Given the description of an element on the screen output the (x, y) to click on. 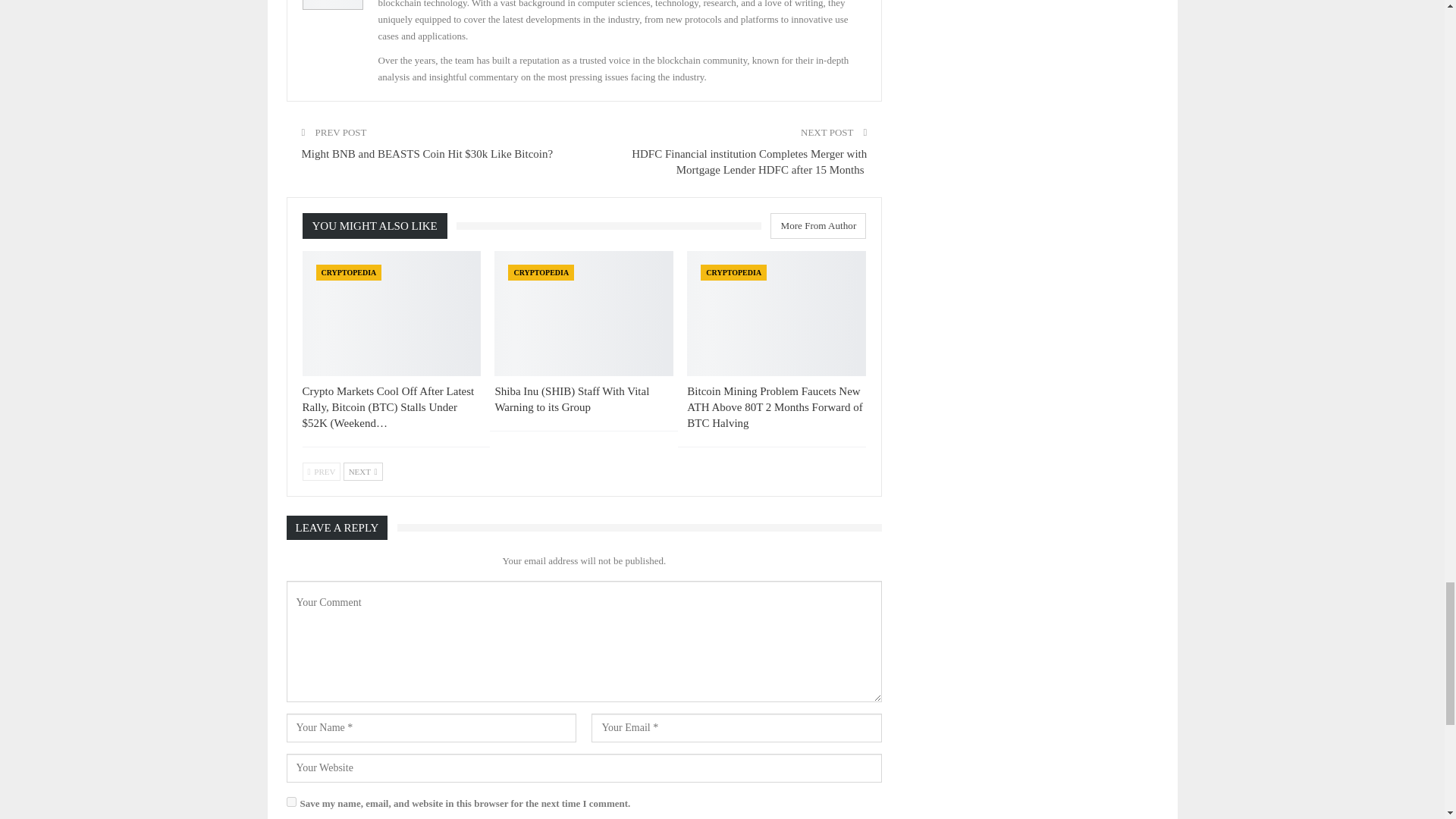
yes (291, 801)
